Given the description of an element on the screen output the (x, y) to click on. 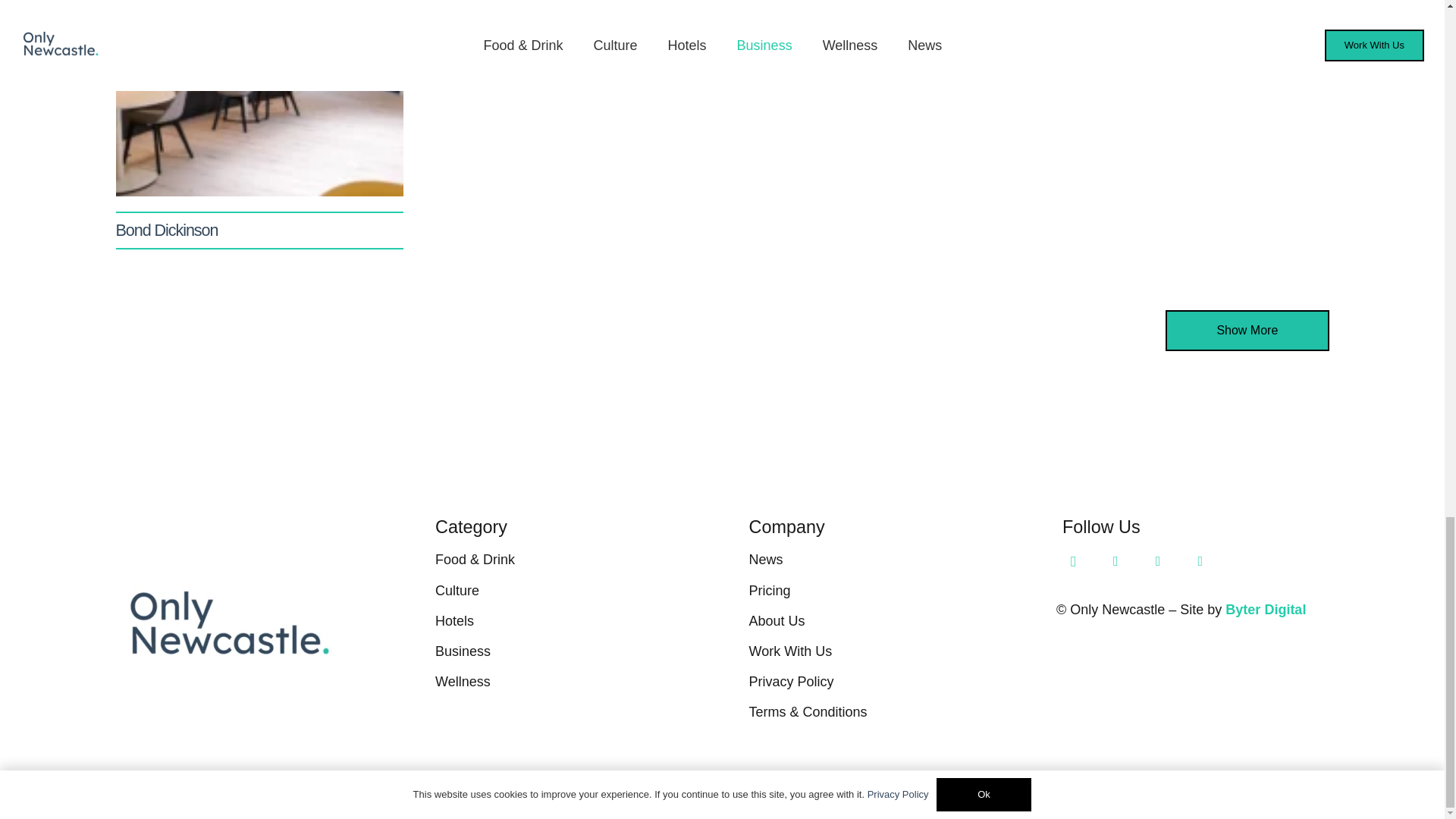
Show More (1246, 330)
Bond Dickinson (165, 229)
